Given the description of an element on the screen output the (x, y) to click on. 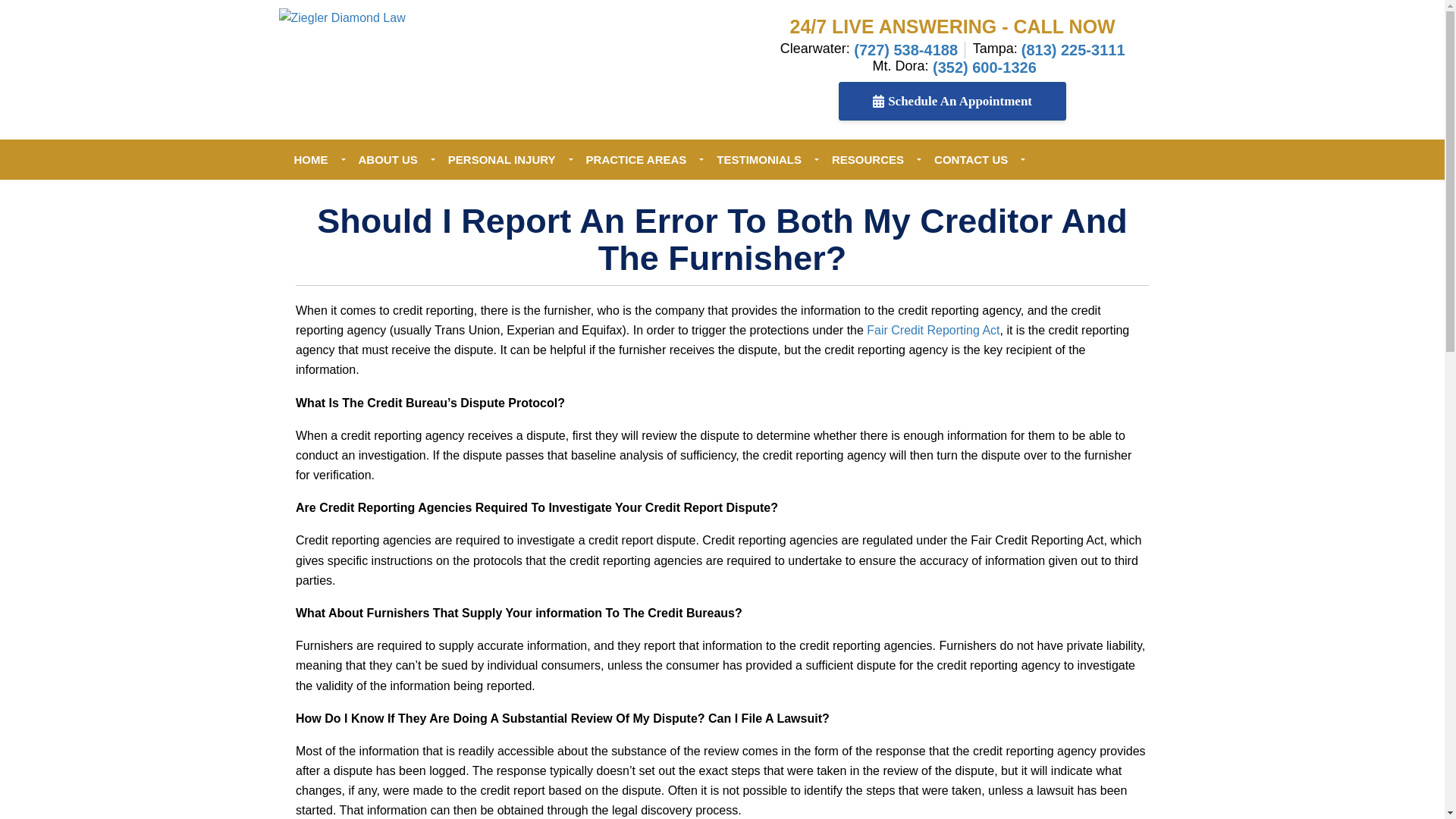
PRACTICE AREAS (635, 159)
HOME (311, 159)
Schedule An Appointment (951, 100)
PERSONAL INJURY (501, 159)
ABOUT US (387, 159)
